Given the description of an element on the screen output the (x, y) to click on. 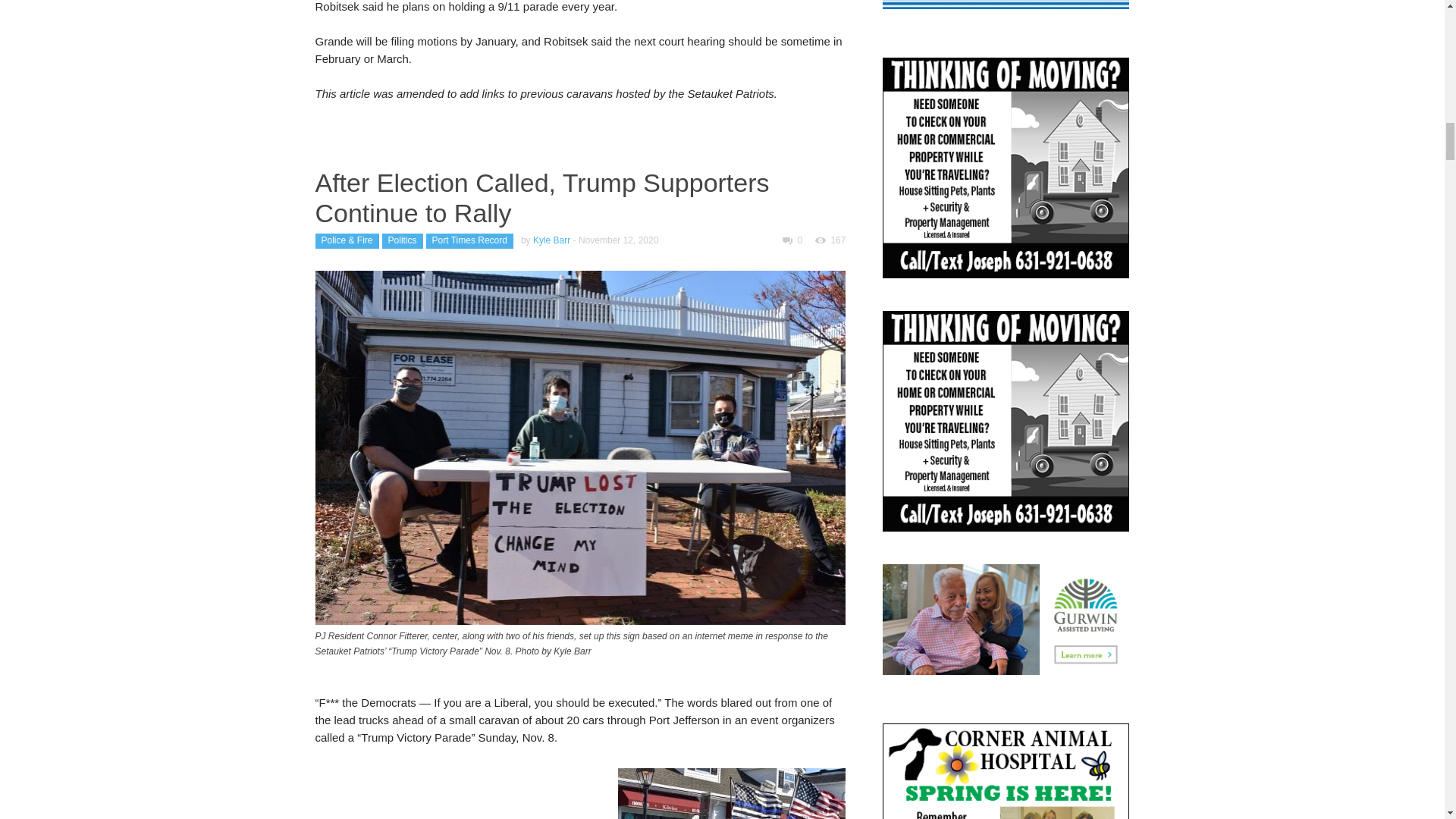
After Election Called, Trump Supporters Continue to Rally (542, 197)
